Given the description of an element on the screen output the (x, y) to click on. 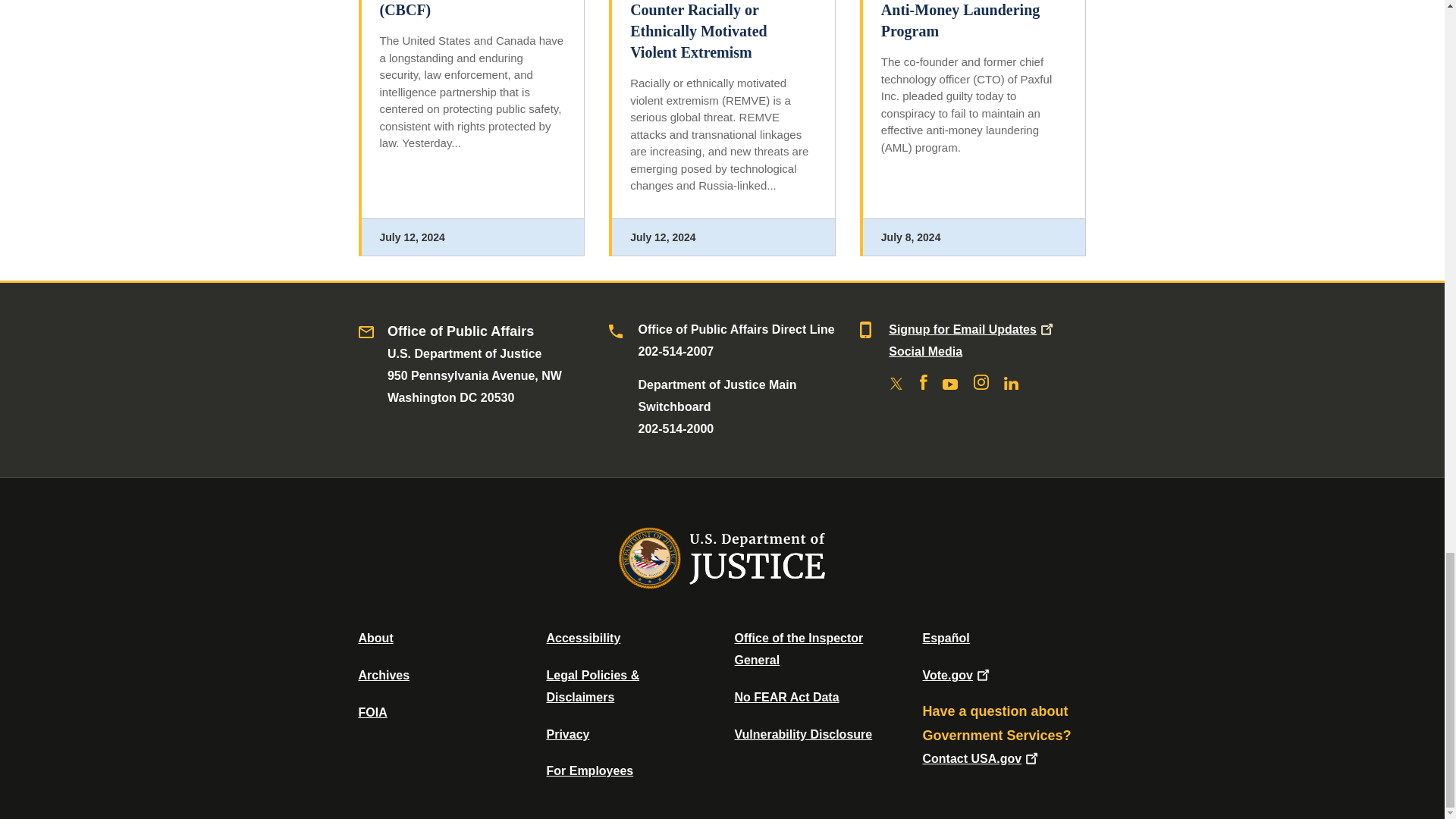
Legal Policies and Disclaimers (592, 686)
Department of Justice Archive (383, 675)
Accessibility Statement (583, 637)
Office of Information Policy (372, 712)
About DOJ (375, 637)
Data Posted Pursuant To The No Fear Act (785, 697)
For Employees (589, 770)
